Given the description of an element on the screen output the (x, y) to click on. 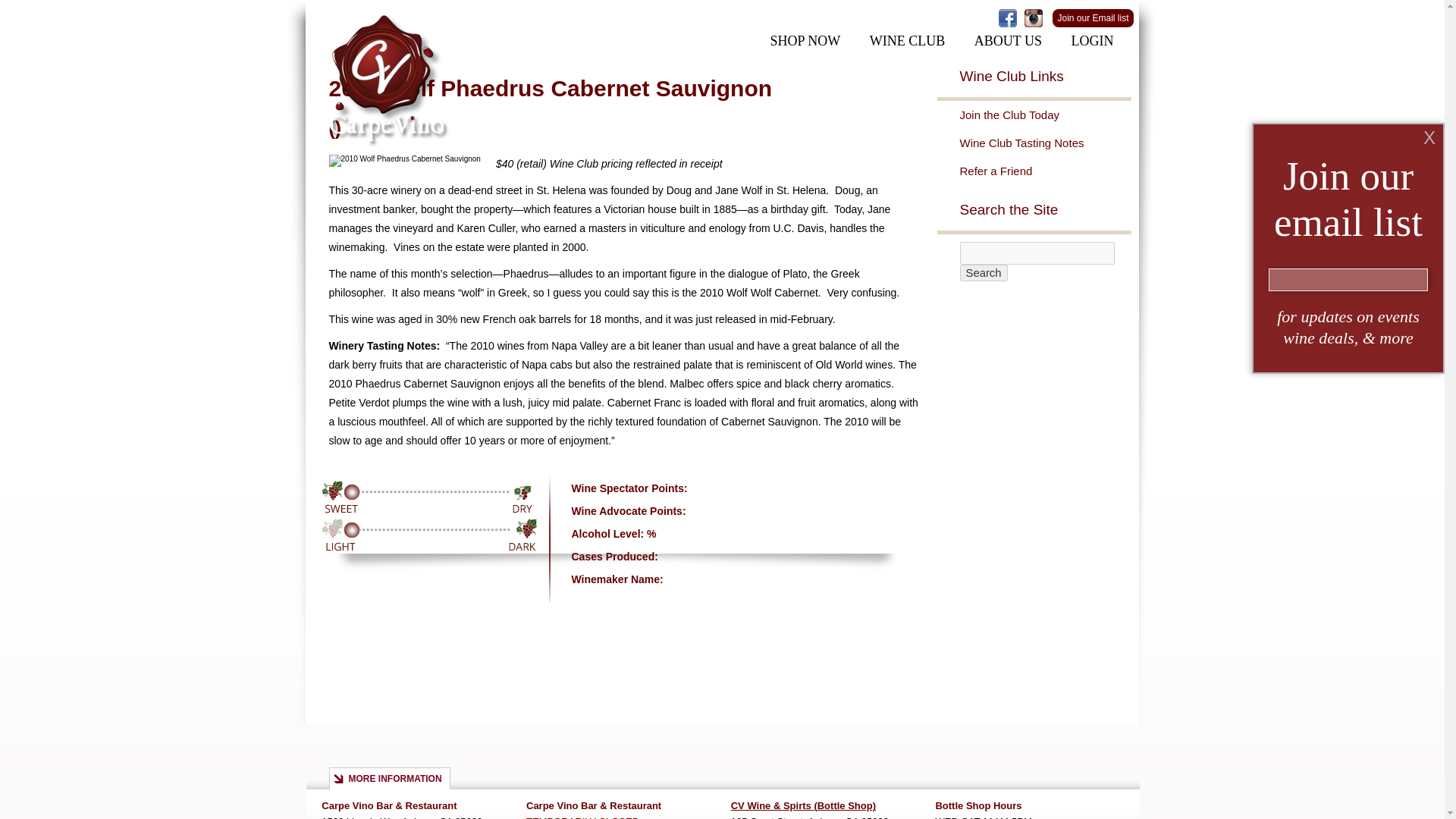
ABOUT US (1008, 40)
Search (983, 272)
WINE CLUB (906, 40)
Wine Club Tasting Notes (1045, 142)
Join the Club Today (1045, 114)
LOGIN (1091, 40)
Join our Email list (1092, 18)
Search (983, 272)
SHOP NOW (803, 40)
Refer a Friend (1045, 170)
